Given the description of an element on the screen output the (x, y) to click on. 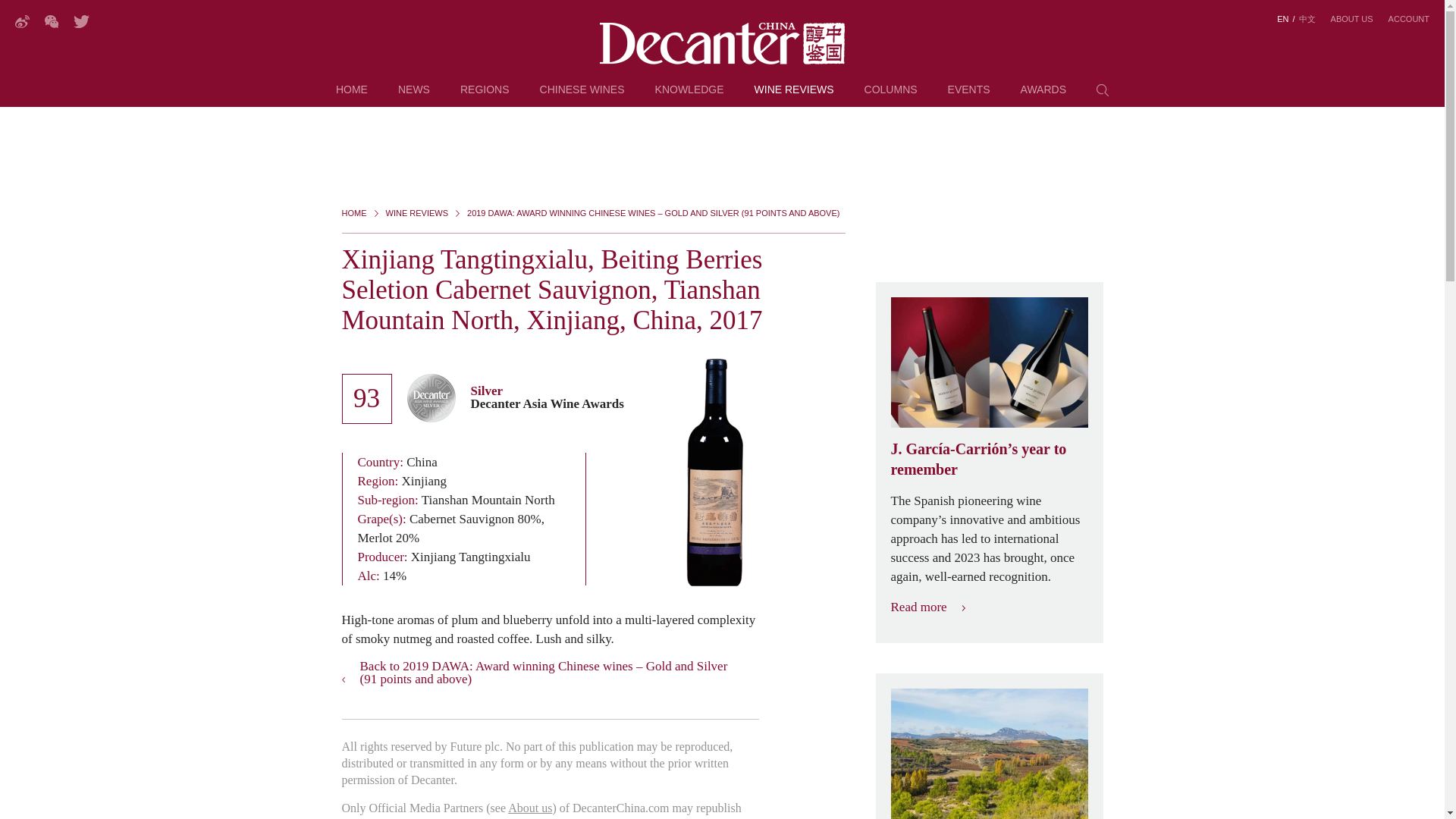
KNOWLEDGE (689, 95)
EVENTS (968, 95)
NEWS (413, 95)
REGIONS (484, 95)
AWARDS (1042, 95)
ABOUT US (1351, 18)
COLUMNS (890, 95)
ACCOUNT (1409, 18)
EN (1282, 18)
CHINESE WINES (582, 95)
